Given the description of an element on the screen output the (x, y) to click on. 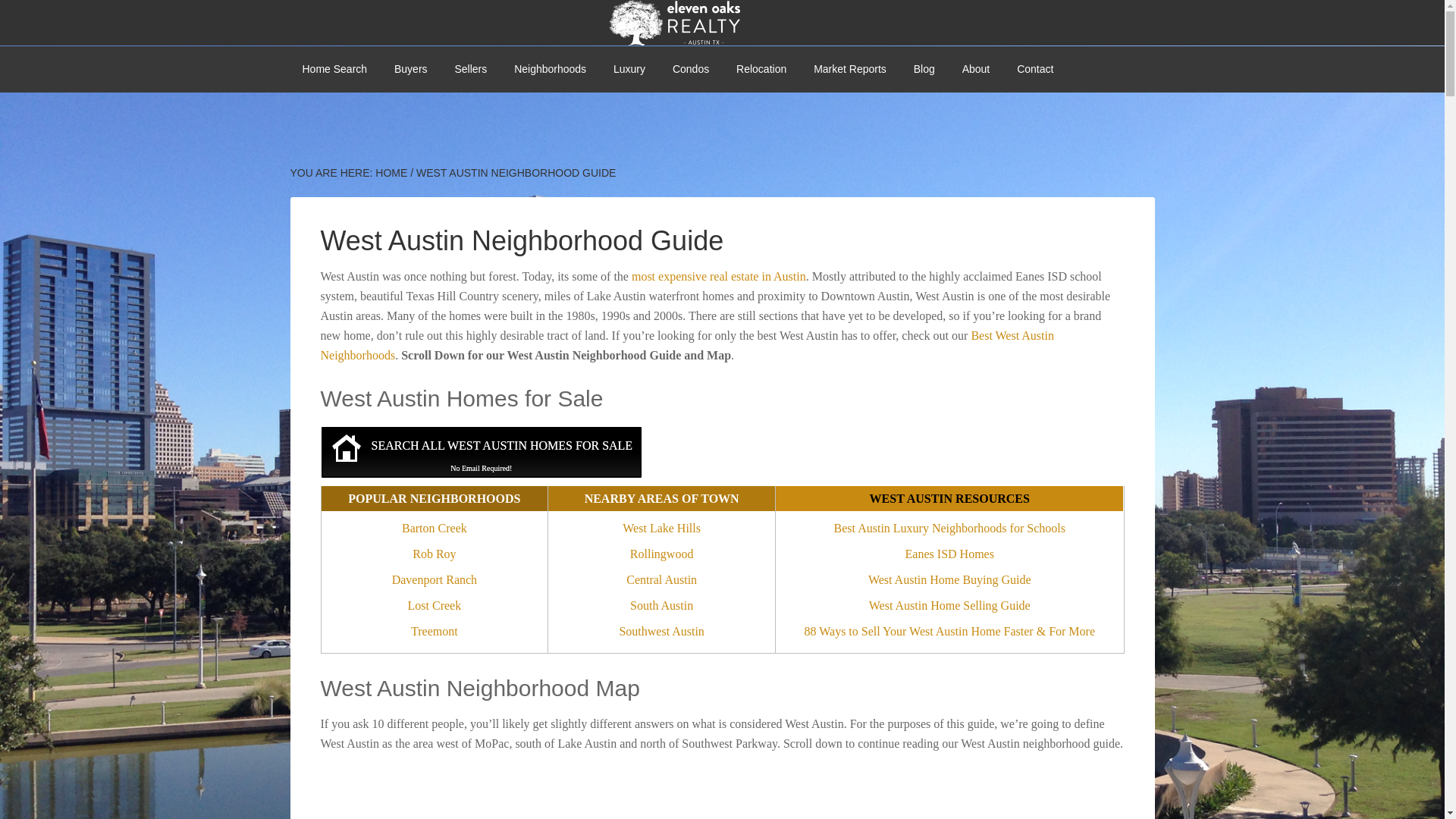
Relocating to Austin (760, 68)
Contact (1034, 68)
How to Contact Eleven Oaks Realty (1034, 68)
Treemont (434, 631)
West Austin Home Selling Guide (949, 605)
Austin Neighborhood Guide (550, 68)
Neighborhoods (550, 68)
Austin Home Buyers (410, 68)
Condos (690, 68)
Barton Creek (434, 528)
Austin real estate price reports (850, 68)
About (976, 68)
Best West Austin Neighborhoods (686, 345)
Best Austin Luxury Neighborhoods for Schools (949, 528)
Rob Roy (433, 554)
